Given the description of an element on the screen output the (x, y) to click on. 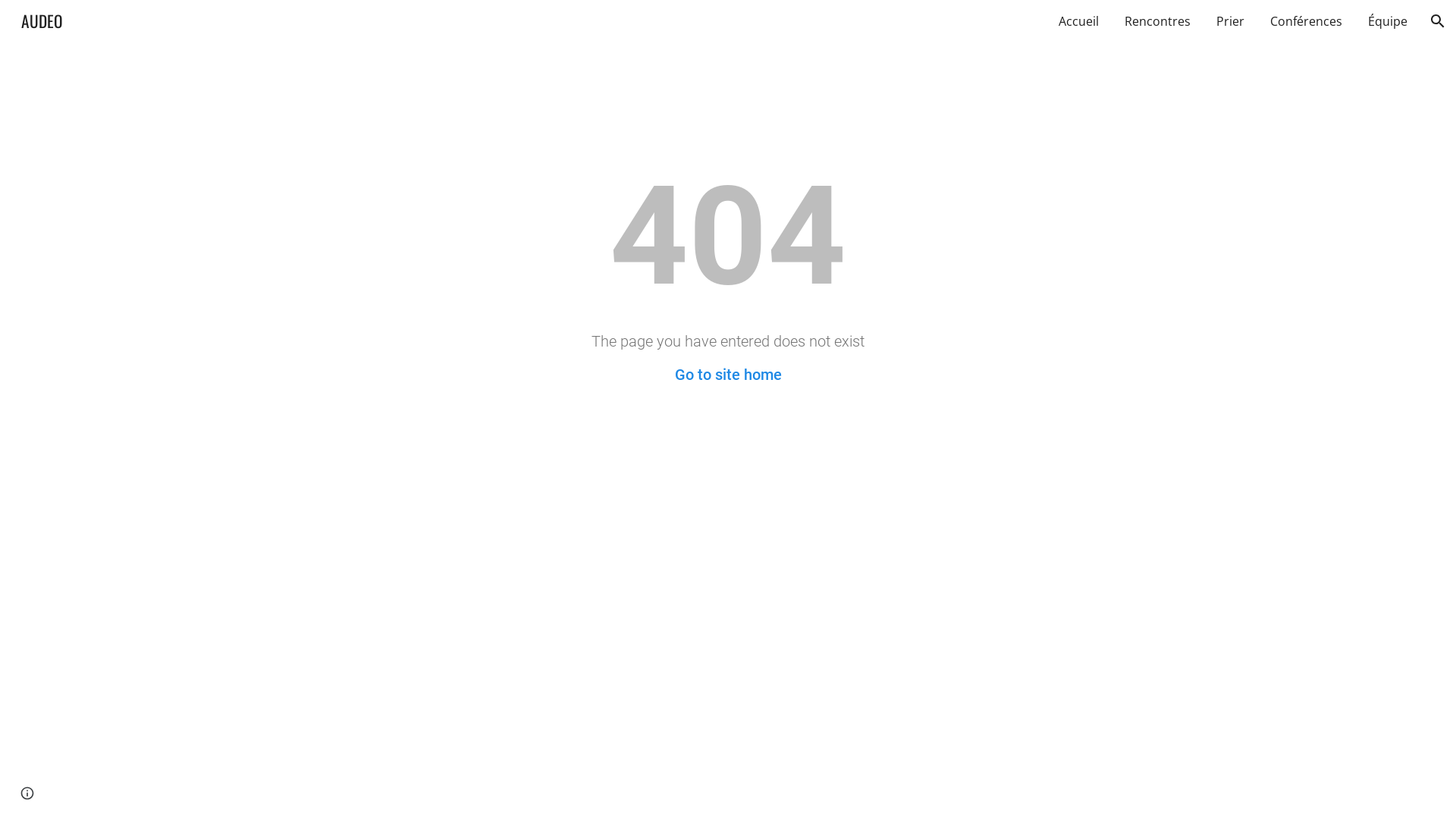
AUDEO Element type: text (42, 18)
Rencontres Element type: text (1157, 20)
Accueil Element type: text (1078, 20)
Prier Element type: text (1230, 20)
Go to site home Element type: text (727, 374)
